Given the description of an element on the screen output the (x, y) to click on. 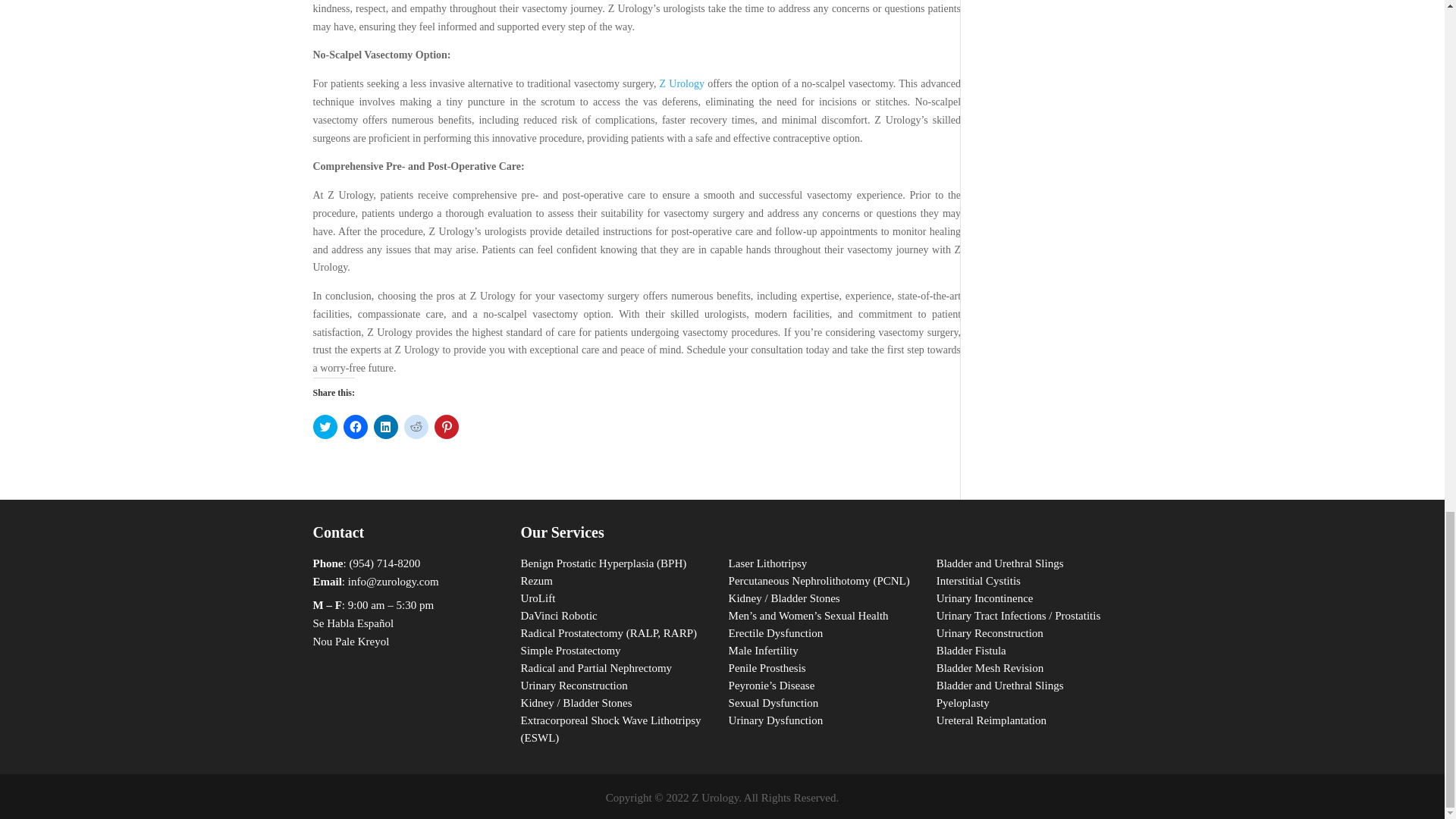
Click to share on LinkedIn (384, 426)
Click to share on Twitter (324, 426)
Click to share on Pinterest (445, 426)
Click to share on Reddit (415, 426)
Click to share on Facebook (354, 426)
